Given the description of an element on the screen output the (x, y) to click on. 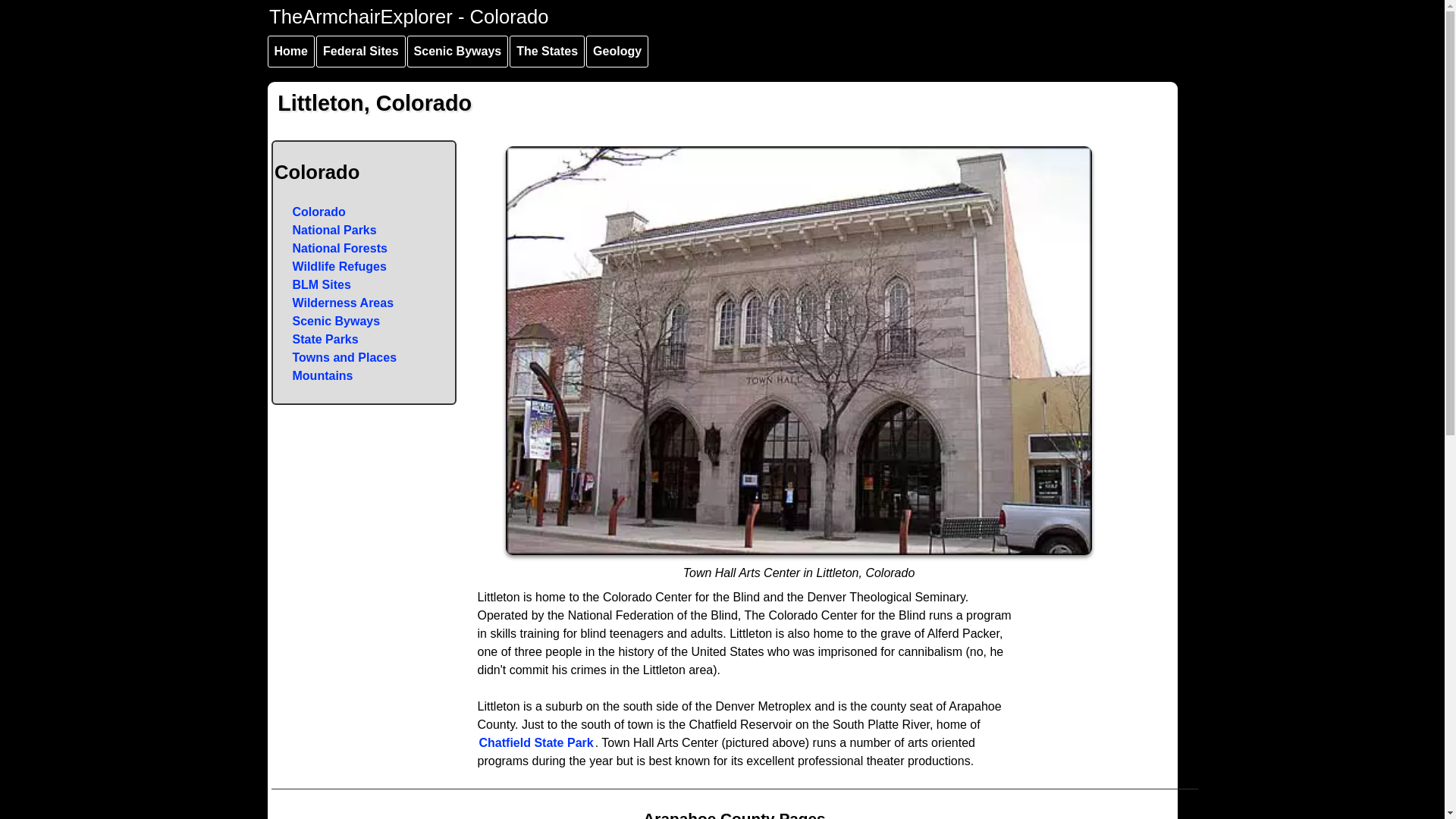
Home (290, 51)
Scenic Byways (457, 51)
Federal Sites (360, 51)
Skip to main navigation (298, 2)
Skip to main content (290, 2)
The States (547, 51)
